Given the description of an element on the screen output the (x, y) to click on. 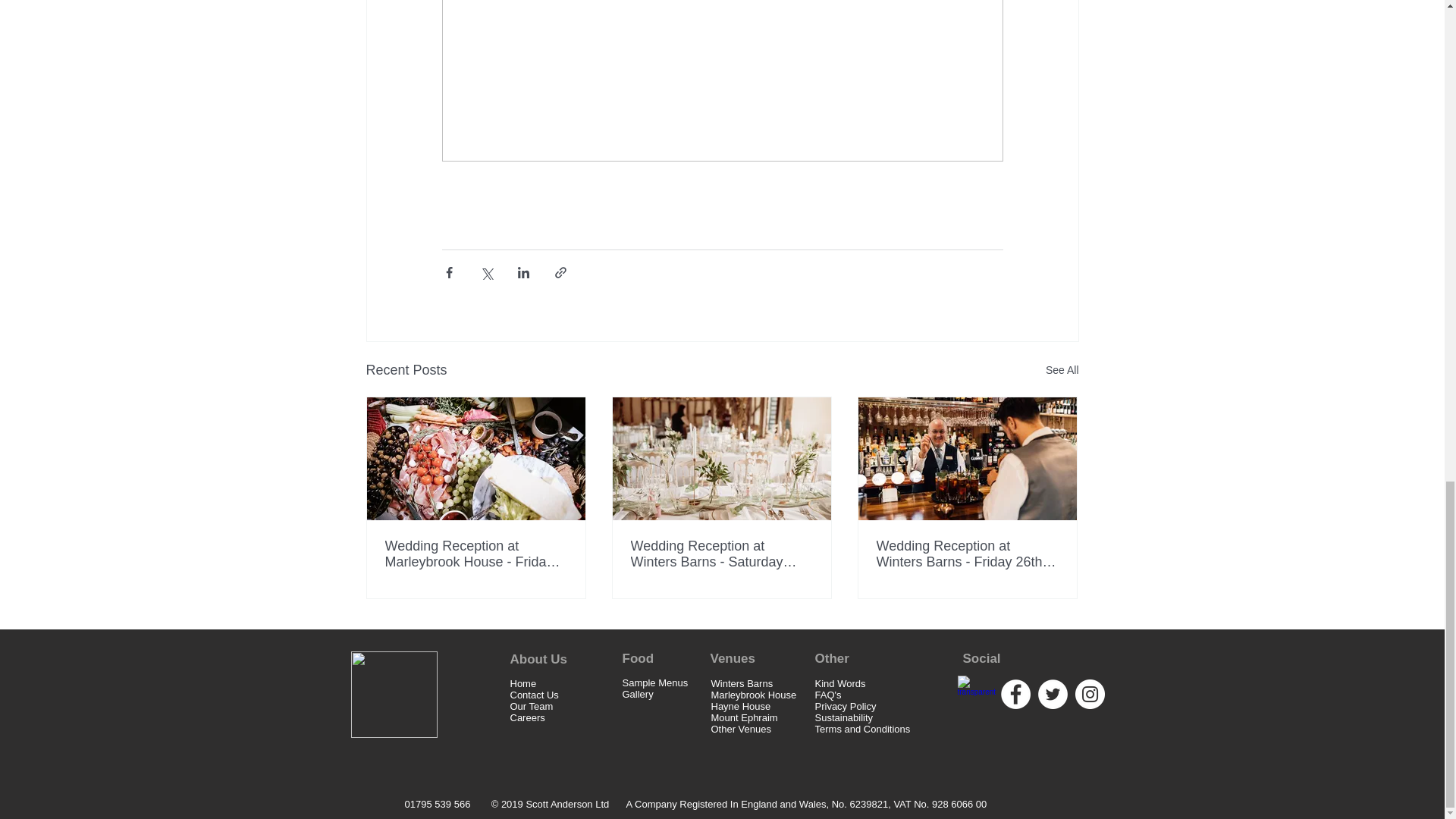
Wedding Reception at Marleybrook House - Friday 26th July 24 (476, 554)
See All (1061, 370)
Wedding Reception at Winters Barns - Saturday 27th July 24 (721, 554)
